Given the description of an element on the screen output the (x, y) to click on. 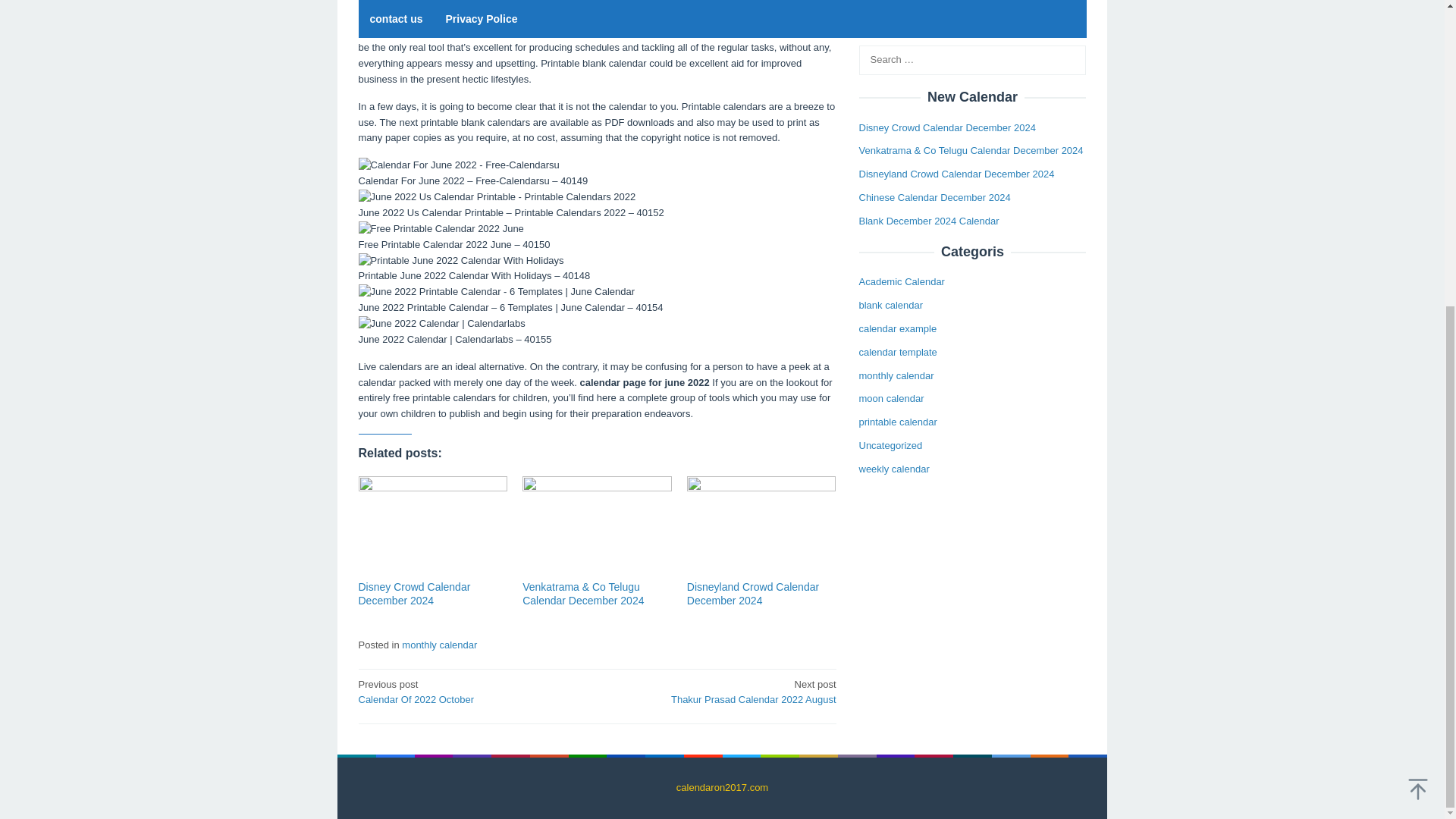
printable calendar (897, 102)
monthly calendar (896, 57)
Permalink to: Disney Crowd Calendar December 2024 (432, 526)
Disneyland Crowd Calendar December 2024 (752, 593)
calendar template (897, 33)
Free Printable Calendar 2022 June (721, 691)
Calendar For June 2022 - Free-Calendarsu (440, 229)
June 2022 Us Calendar Printable - Printable Calendars 2022 (458, 165)
weekly calendar (496, 197)
